Given the description of an element on the screen output the (x, y) to click on. 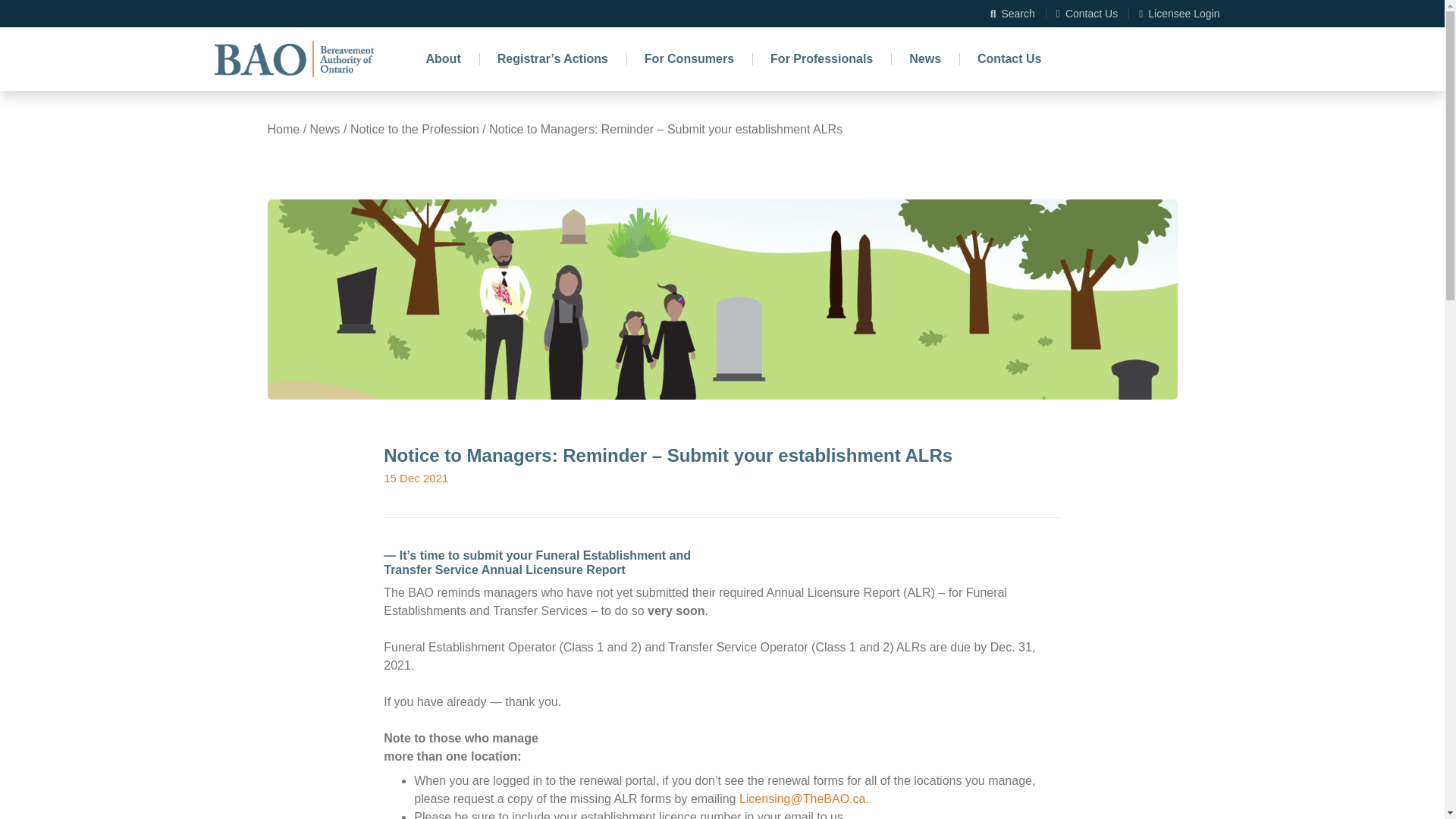
For Consumers (689, 58)
About (443, 58)
Home (293, 58)
